Given the description of an element on the screen output the (x, y) to click on. 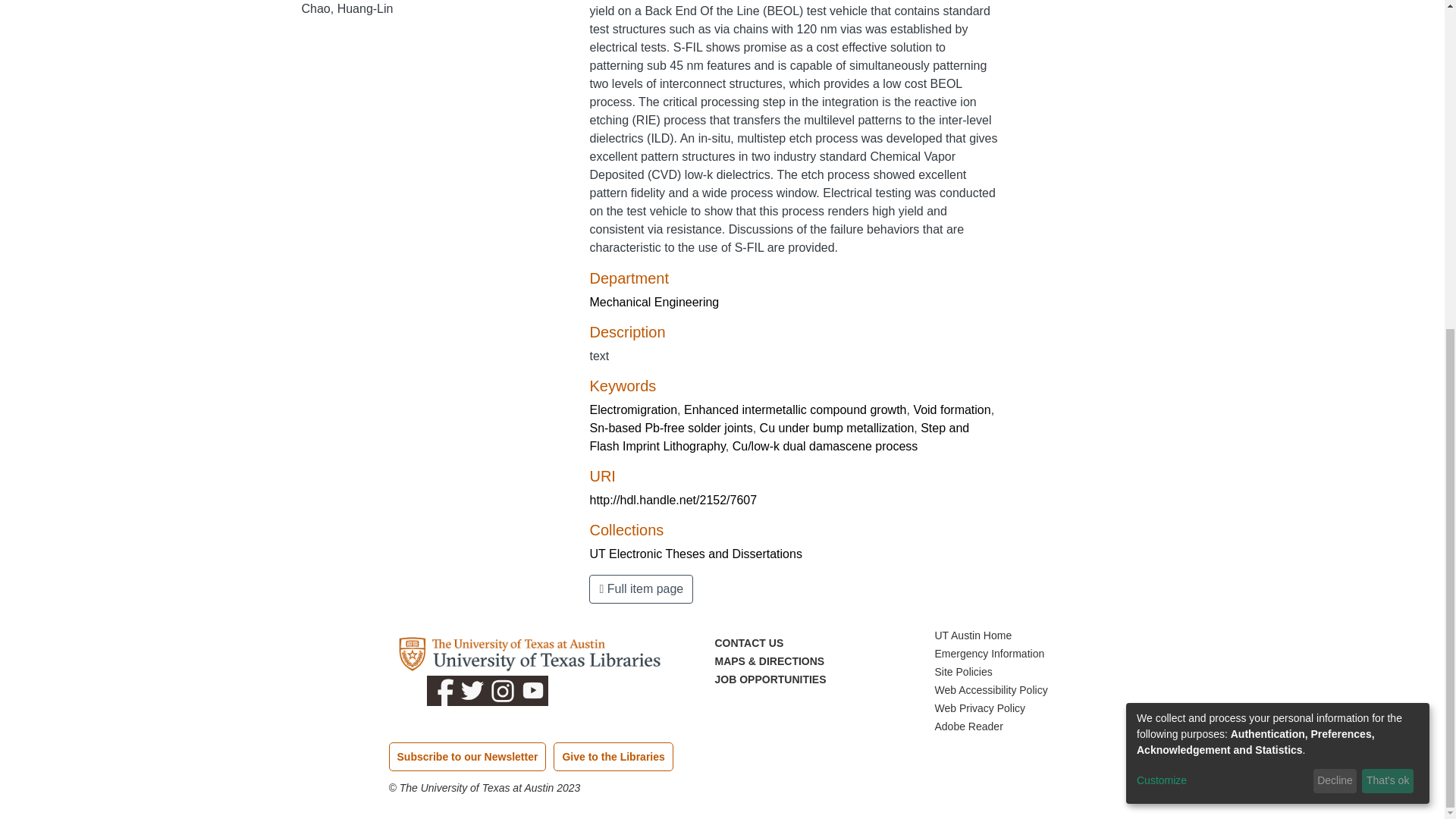
Enhanced intermetallic compound growth (795, 409)
Electromigration (633, 409)
Void formation (951, 409)
Sn-based Pb-free solder joints (670, 427)
Step and Flash Imprint Lithography (779, 436)
Mechanical Engineering (654, 301)
Cu under bump metallization (837, 427)
CONTACT US (748, 643)
UT Electronic Theses and Dissertations (695, 553)
Full item page (641, 588)
